Given the description of an element on the screen output the (x, y) to click on. 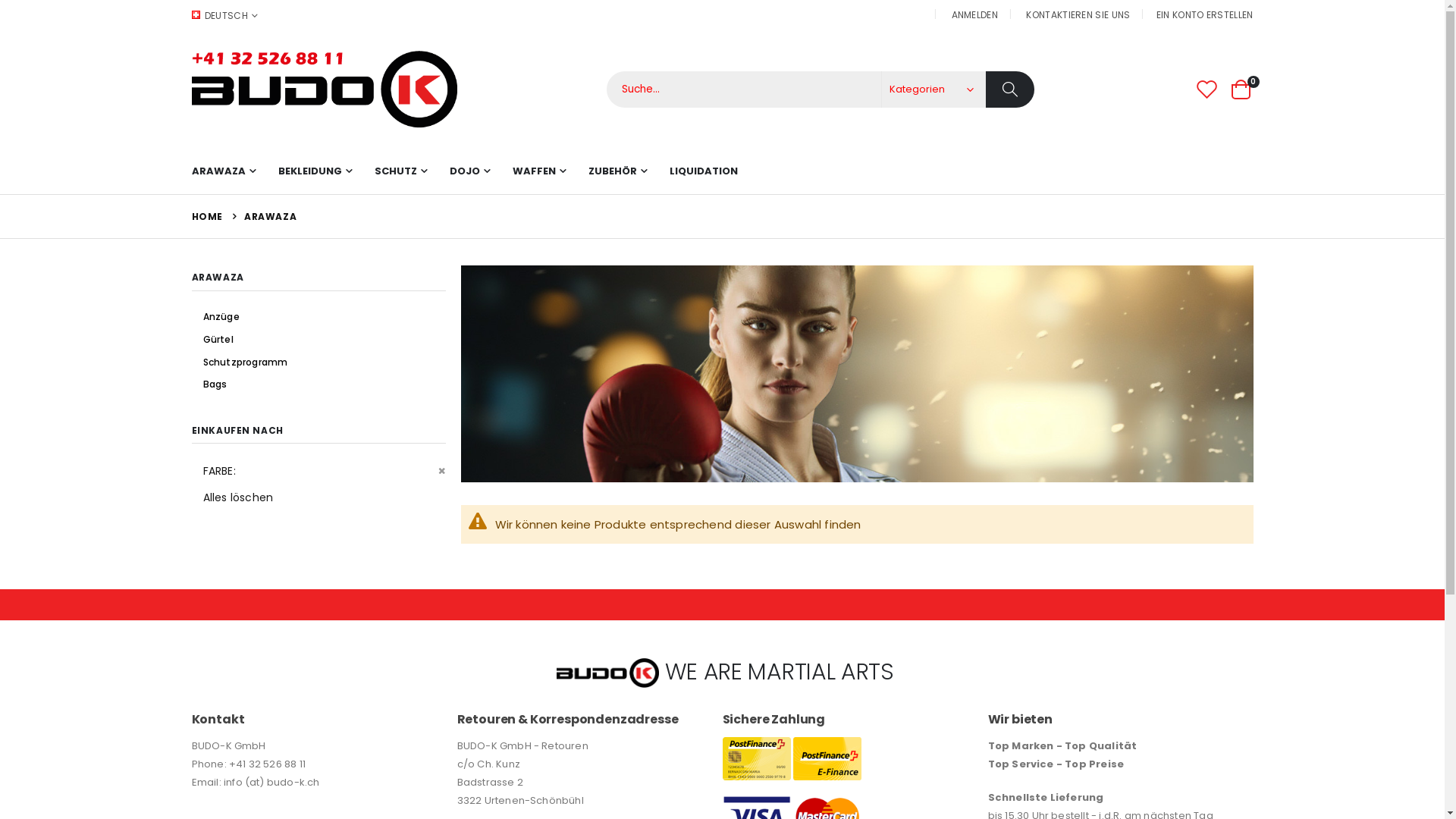
Suche Element type: hover (1009, 89)
Schutzprogramm Element type: text (324, 361)
ARAWAZA Element type: text (222, 171)
DOJO Element type: text (468, 171)
Arawaza Element type: hover (857, 373)
Wishlist Element type: hover (1206, 88)
Warenkorb
0 Element type: text (1240, 89)
BUDO-K Element type: hover (323, 89)
ANMELDEN Element type: text (974, 14)
LIQUIDATION Element type: text (702, 171)
Dies entfernen Element type: text (441, 470)
HOME Element type: text (206, 216)
BEKLEIDUNG Element type: text (314, 171)
WAFFEN Element type: text (538, 171)
SCHUTZ Element type: text (400, 171)
Bags Element type: text (324, 384)
KONTAKTIEREN SIE UNS Element type: text (1077, 14)
EIN KONTO ERSTELLEN Element type: text (1204, 14)
